Given the description of an element on the screen output the (x, y) to click on. 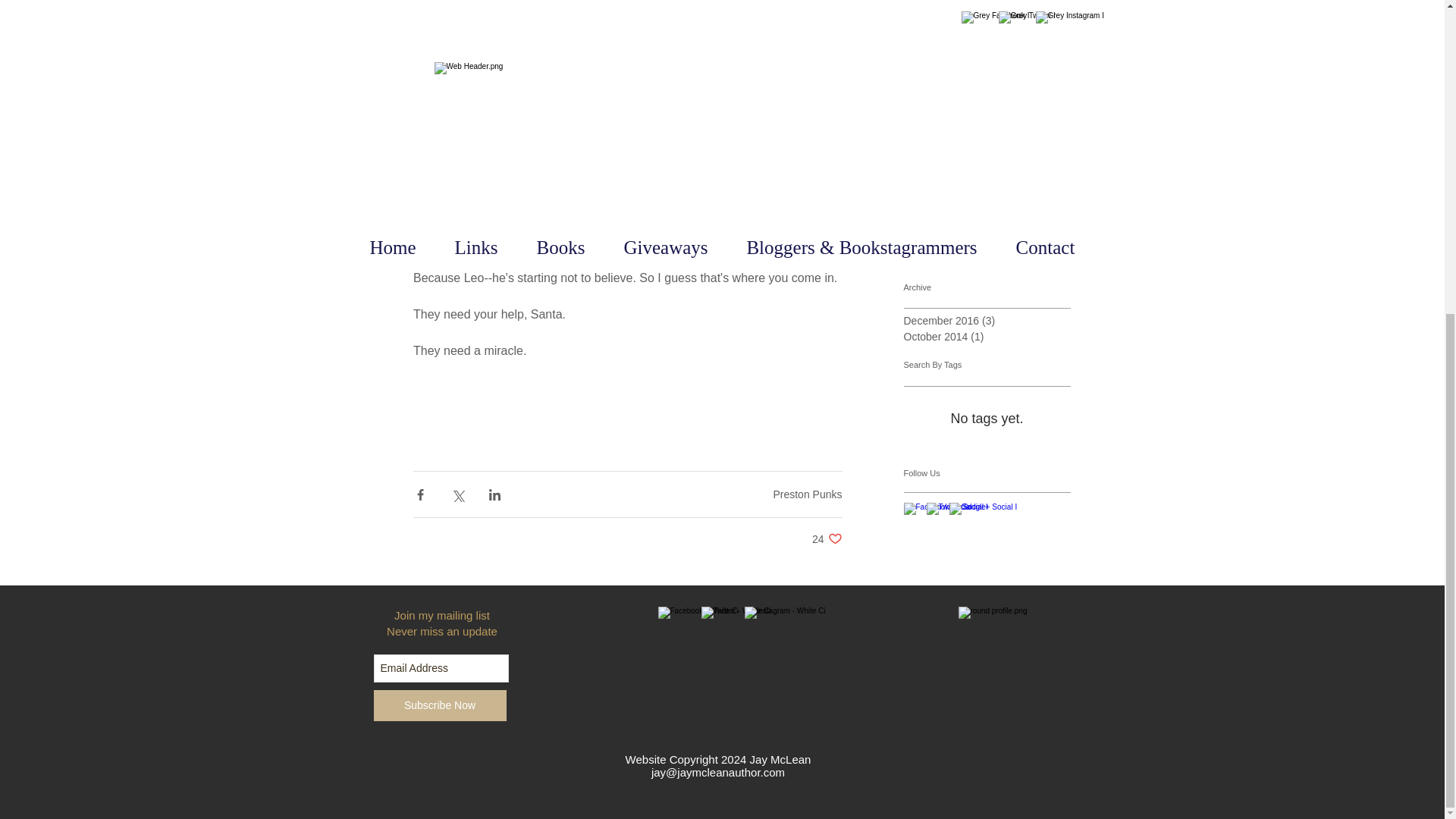
Confessions - A Short Story (992, 242)
December Newsletter GIVEAWAYS (827, 538)
Letter to Santa from Lachlan Preston (1020, 85)
Subscribe Now (1020, 146)
Preston Punks (438, 705)
Welcome to my New Website (807, 494)
